Given the description of an element on the screen output the (x, y) to click on. 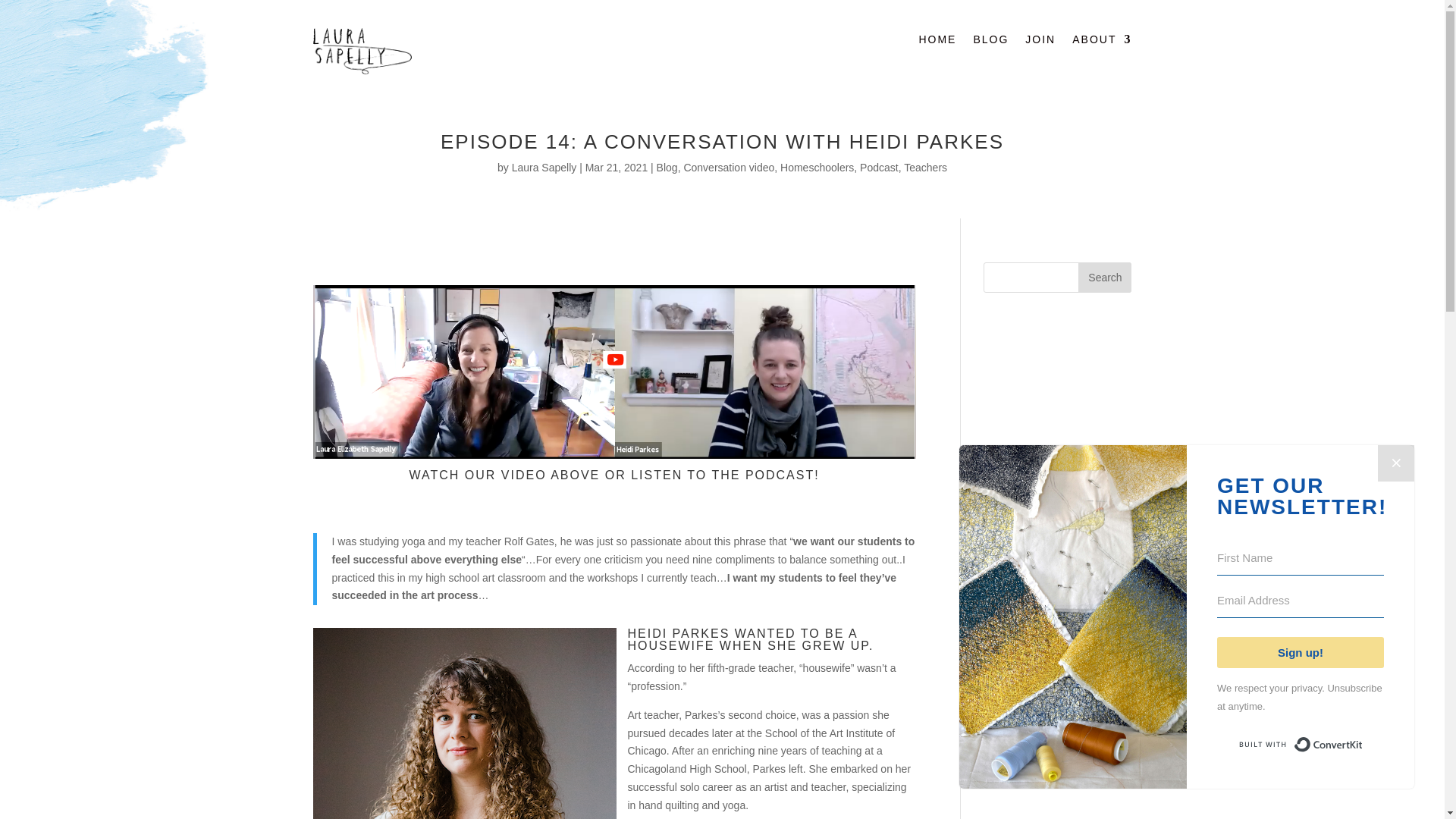
Search (1104, 277)
Homeschoolers (816, 167)
Search (1104, 277)
JOIN (1040, 42)
ABOUT (1101, 42)
BLOG (990, 42)
HOME (937, 42)
Podcast (879, 167)
Blog (667, 167)
Laura Sapelly (544, 167)
Sign up! (1300, 652)
Posts by Laura Sapelly (544, 167)
Conversation video (728, 167)
Built with ConvertKit (1299, 744)
Teachers (925, 167)
